Given the description of an element on the screen output the (x, y) to click on. 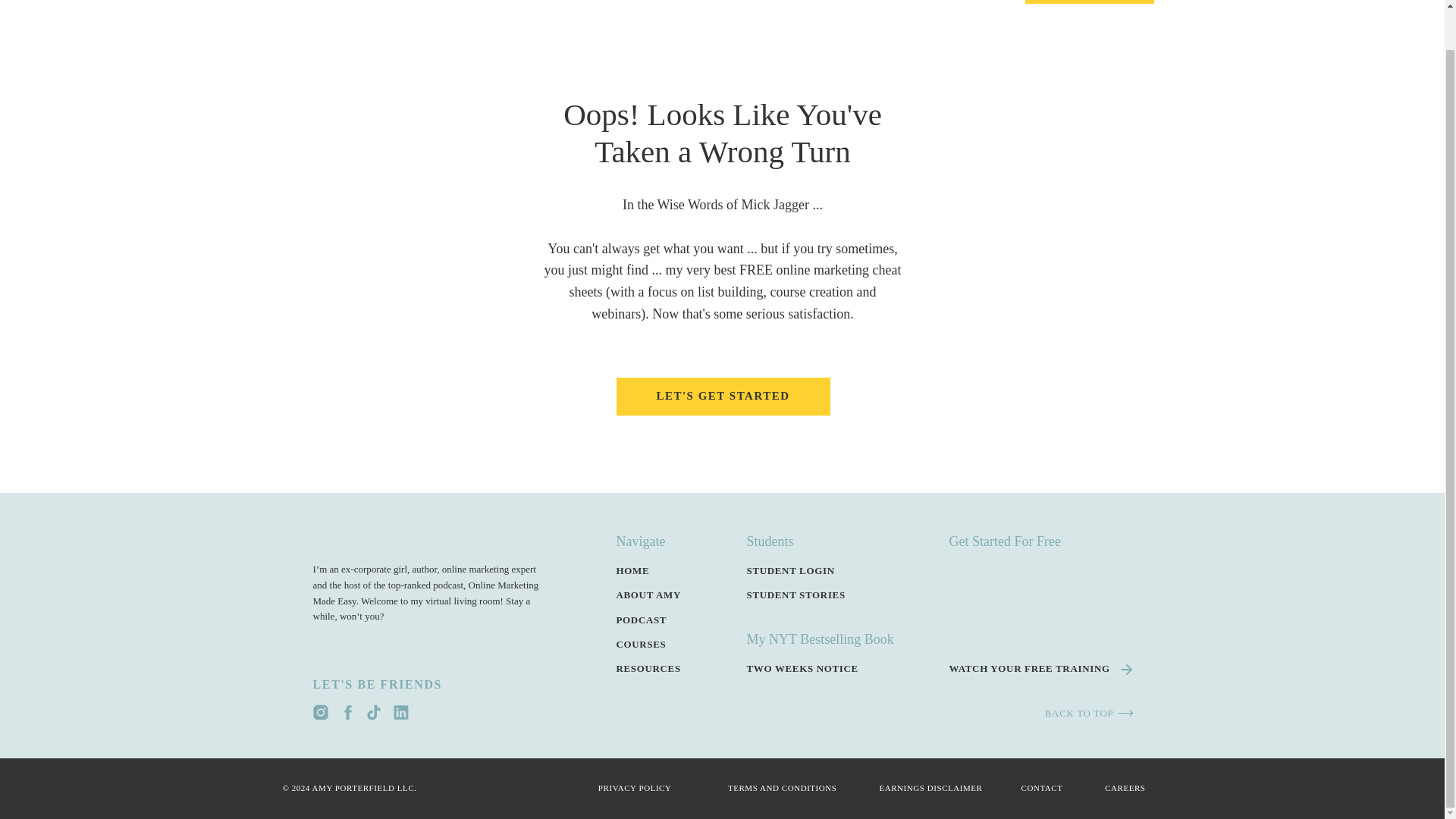
ABOUT AMY (645, 9)
HOME (570, 9)
PODCAST (900, 9)
PRIVACY POLICY (624, 788)
CAREERS (1111, 788)
COURSES (659, 643)
STORIES (978, 9)
WATCH YOUR FREE TRAINING (1040, 668)
EARNINGS DISCLAIMER (916, 788)
ABOUT AMY (664, 594)
